Given the description of an element on the screen output the (x, y) to click on. 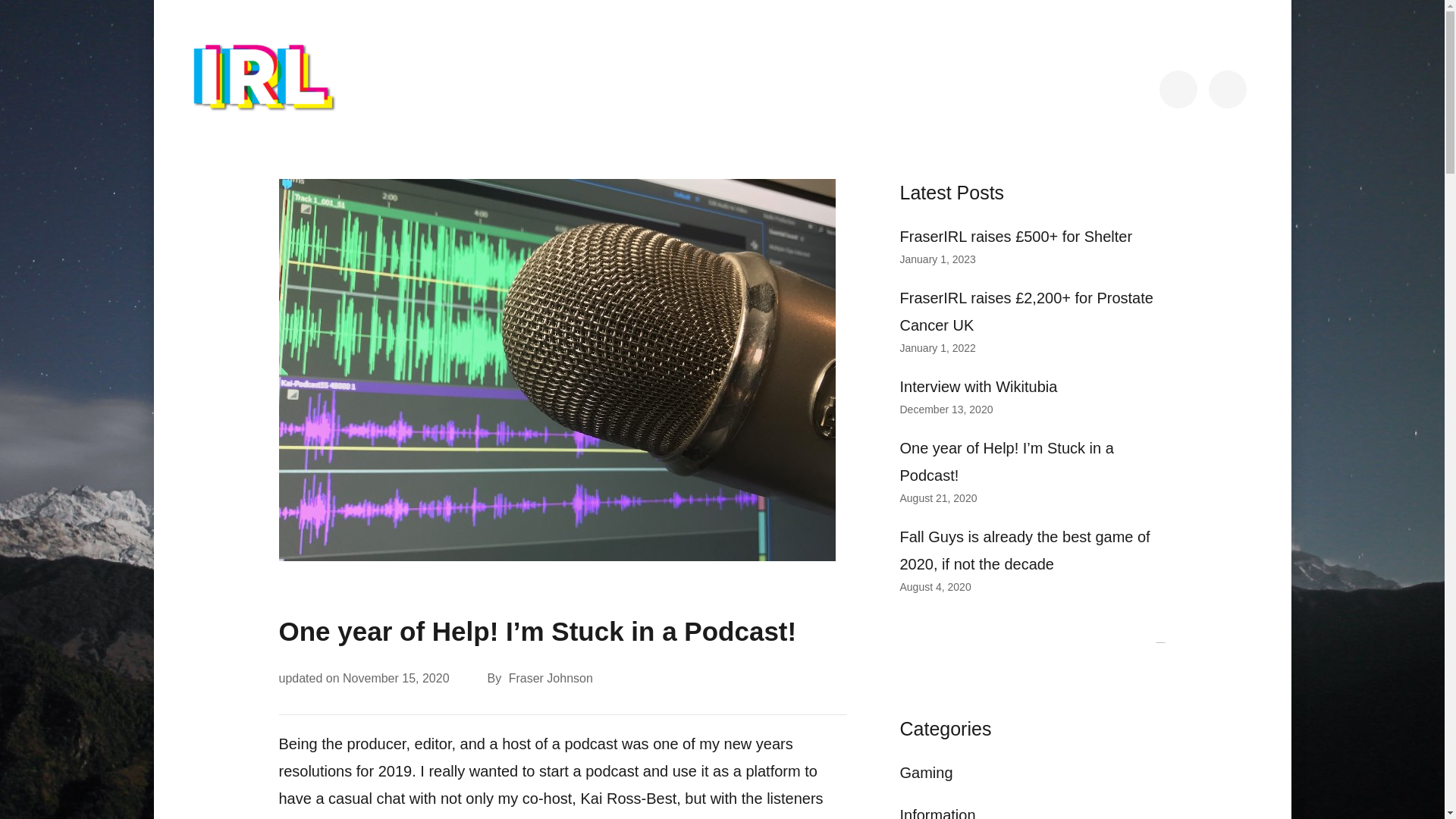
Fraser Johnson (548, 679)
FRASERIRL (254, 138)
Information (937, 812)
Interview with Wikitubia (978, 386)
Gaming (925, 772)
November 15, 2020 (395, 677)
